Given the description of an element on the screen output the (x, y) to click on. 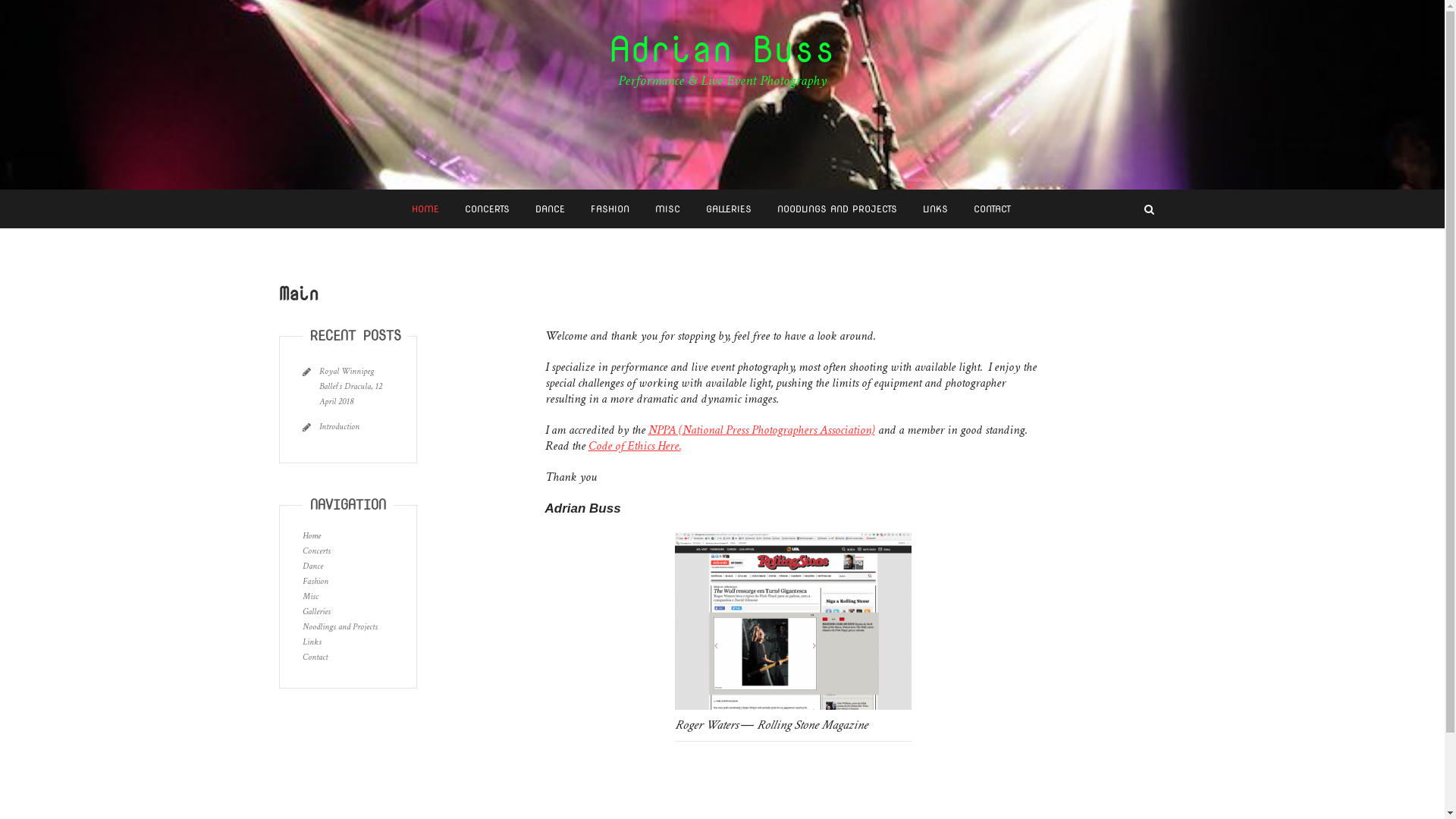
Code of Ethics Here. Element type: text (634, 446)
Introduction Element type: text (338, 426)
Galleries Element type: text (315, 611)
HOME Element type: text (425, 208)
LINKS Element type: text (935, 208)
Noodlings and Projects Element type: text (338, 627)
Adrian Buss Element type: text (721, 48)
Misc Element type: text (309, 596)
Home Element type: text (310, 536)
Dance Element type: text (311, 566)
CONTACT Element type: text (991, 208)
NOODLINGS AND PROJECTS Element type: text (836, 208)
GALLERIES Element type: text (728, 208)
DANCE Element type: text (549, 208)
FASHION Element type: text (609, 208)
Links Element type: text (310, 642)
NPPA (National Press Photographers Association) Element type: text (760, 430)
Fashion Element type: text (314, 581)
Concerts Element type: text (315, 551)
CONCERTS Element type: text (486, 208)
MISC Element type: text (666, 208)
Contact Element type: text (313, 657)
